Given the description of an element on the screen output the (x, y) to click on. 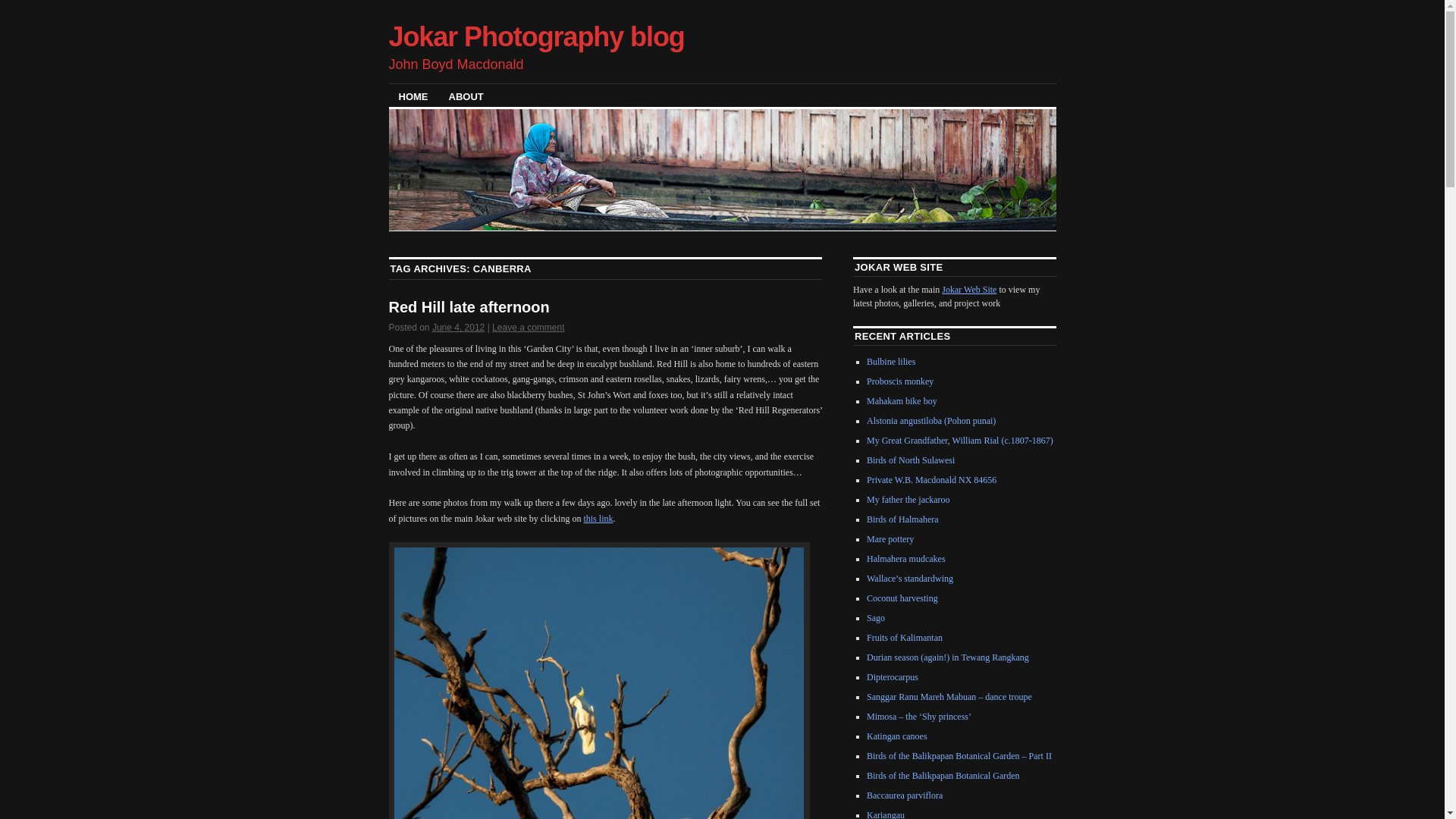
Dipterocarpus Element type: text (892, 676)
Katingan canoes Element type: text (896, 736)
Mare pottery Element type: text (889, 538)
Private W.B. Macdonald NX 84656 Element type: text (931, 479)
Fruits of Kalimantan Element type: text (904, 637)
Jokar Photography blog Element type: text (536, 36)
ABOUT Element type: text (465, 95)
Durian season (again!) in Tewang Rangkang Element type: text (947, 657)
My father the jackaroo Element type: text (908, 499)
Proboscis monkey Element type: text (899, 381)
Birds of Halmahera Element type: text (902, 519)
this link Element type: text (597, 518)
Red Hill late afternoon Element type: text (468, 306)
Jokar Web Site Element type: text (968, 289)
Birds of the Balikpapan Botanical Garden Element type: text (942, 775)
Coconut harvesting Element type: text (902, 598)
June 4, 2012 Element type: text (458, 327)
Mahakam bike boy Element type: text (901, 400)
HOME Element type: text (412, 95)
Sago Element type: text (875, 617)
Bulbine lilies Element type: text (890, 361)
Birds of North Sulawesi Element type: text (910, 460)
Alstonia angustiloba (Pohon punai) Element type: text (930, 420)
Leave a comment Element type: text (528, 327)
Baccaurea parviflora Element type: text (904, 795)
My Great Grandfather, William Rial (c.1807-1867) Element type: text (959, 440)
Halmahera mudcakes Element type: text (905, 558)
